Given the description of an element on the screen output the (x, y) to click on. 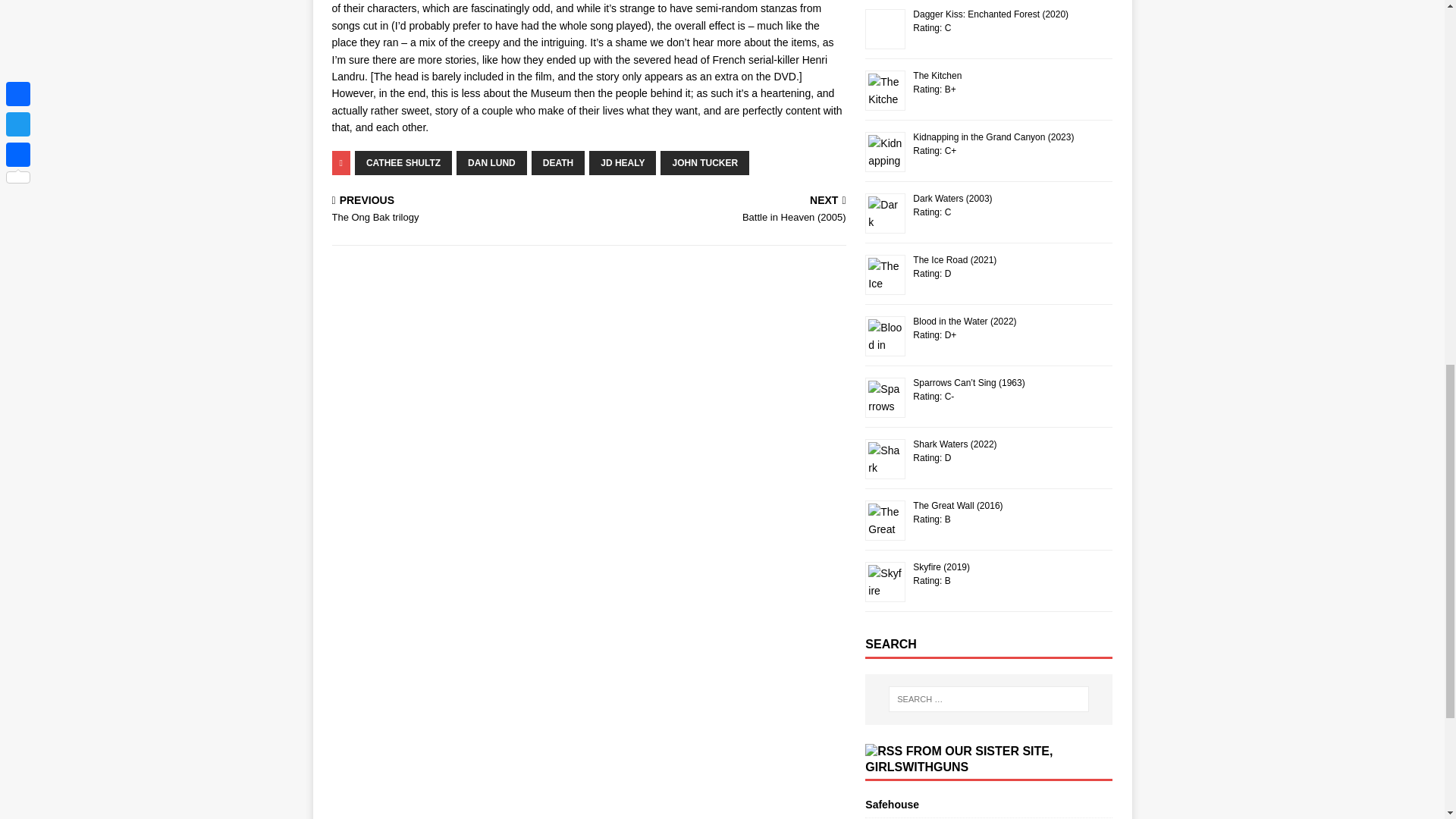
DEATH (558, 162)
JD HEALY (622, 162)
DAN LUND (492, 162)
JOHN TUCKER (705, 162)
CATHEE SHULTZ (457, 210)
